Given the description of an element on the screen output the (x, y) to click on. 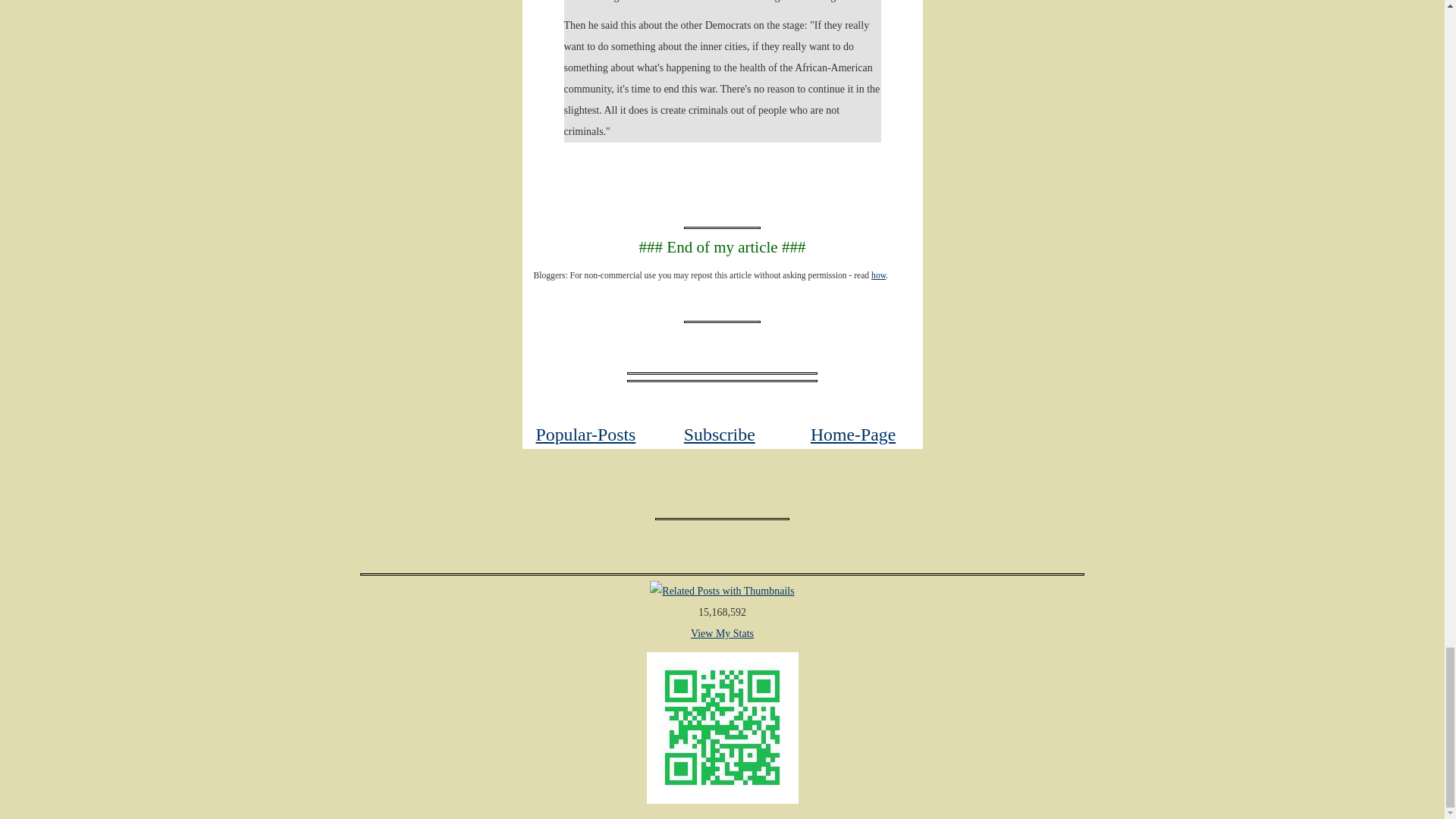
Popular-Posts (585, 434)
Subscribe (719, 434)
View My Stats (722, 633)
how (877, 275)
Home-Page (852, 434)
